Given the description of an element on the screen output the (x, y) to click on. 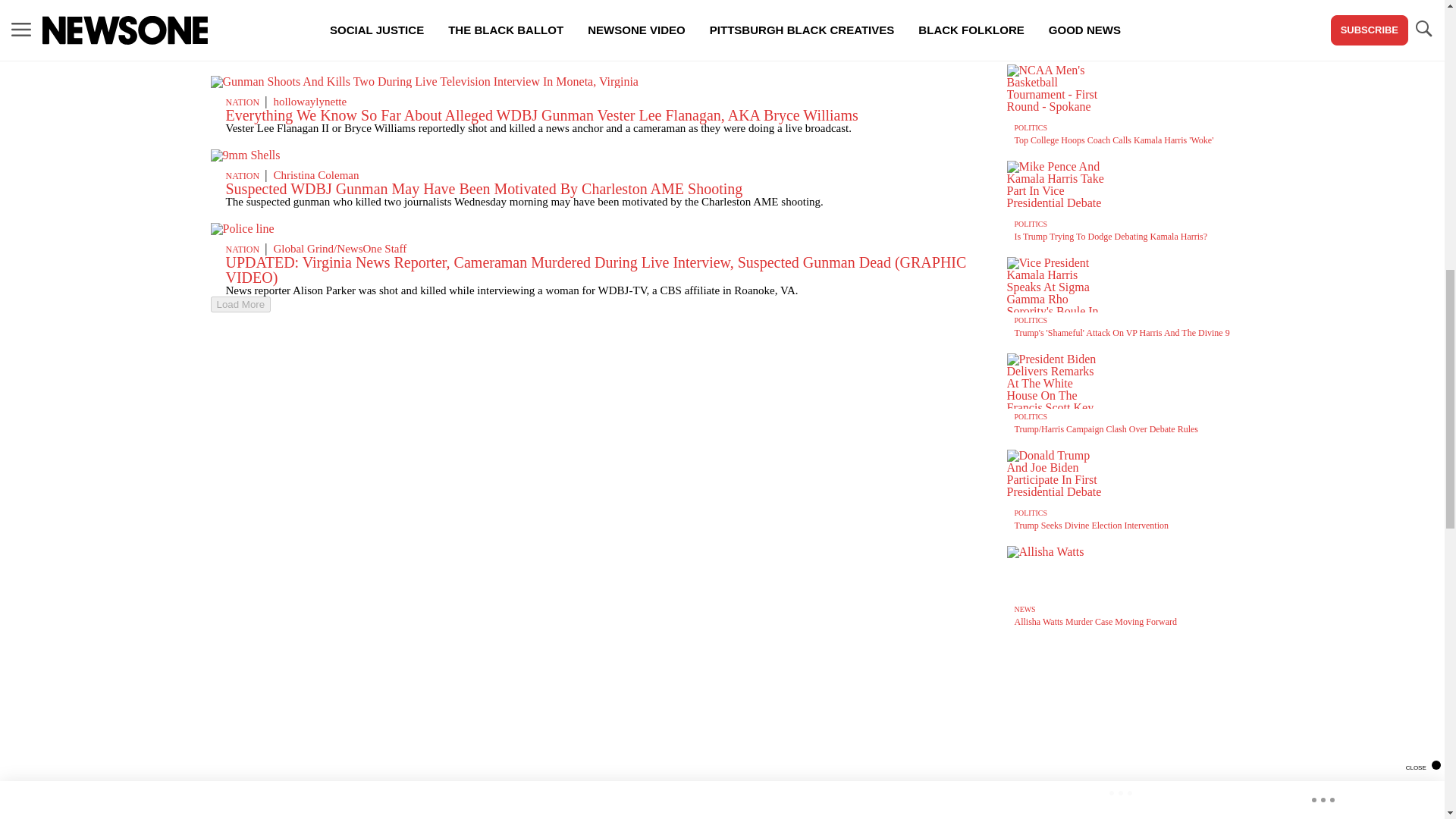
hollowaylynette (309, 101)
NewsOne Staff (307, 28)
Load More (596, 304)
NATION (242, 102)
NATION (242, 28)
Load More (240, 304)
